Given the description of an element on the screen output the (x, y) to click on. 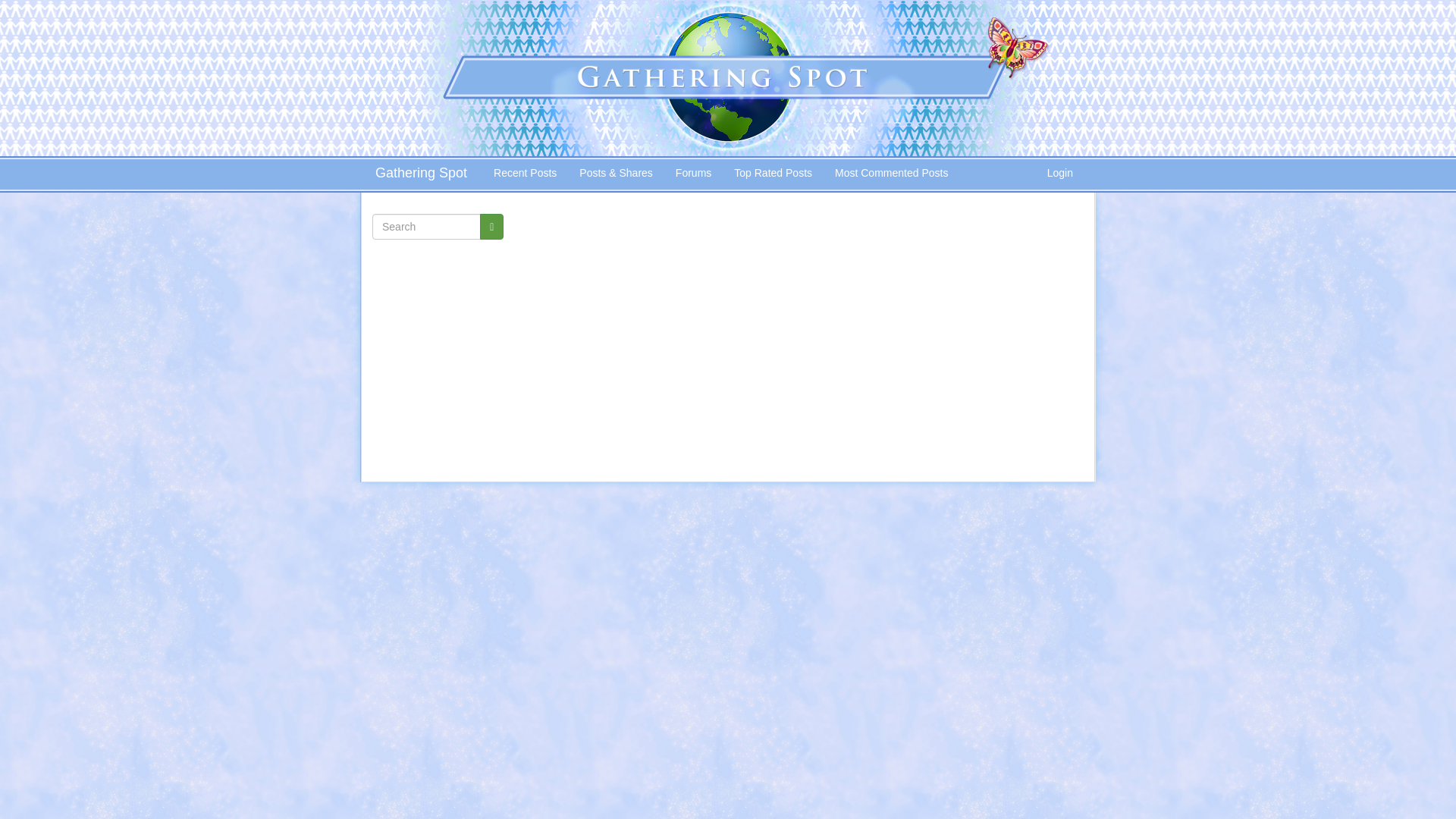
Top Rated Posts (437, 338)
Enter the terms you wish to search for. (426, 226)
Forums (692, 172)
Top Rated Posts (773, 172)
Most Commented Posts (437, 375)
Recent Posts (524, 172)
Home (420, 173)
Recent Posts (437, 253)
Gathering Spot (727, 79)
